Given the description of an element on the screen output the (x, y) to click on. 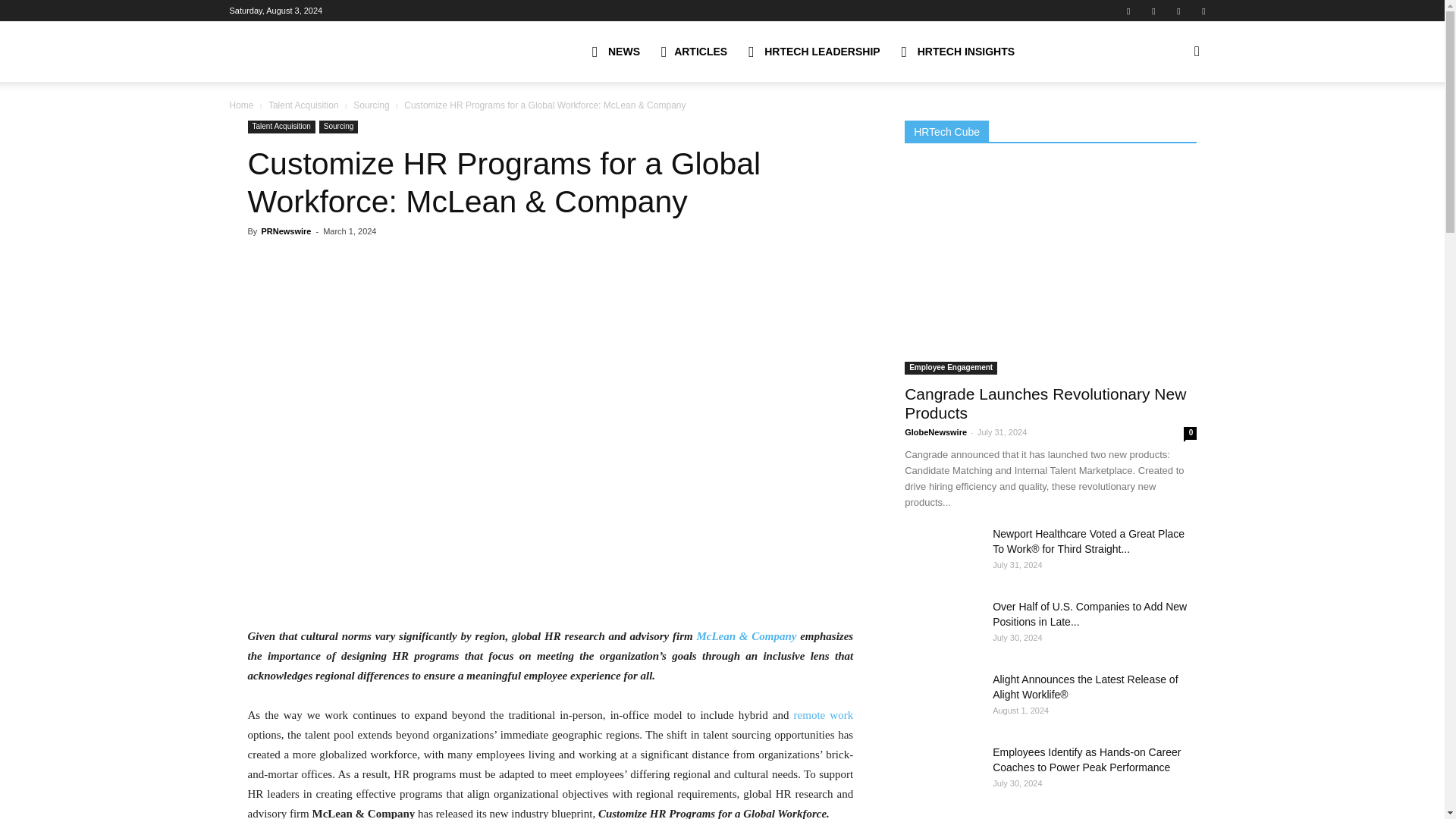
Linkedin (1152, 10)
View all posts in Sourcing (370, 104)
View all posts in Talent Acquisition (303, 104)
Twitter (1203, 10)
RSS (1178, 10)
Facebook (1128, 10)
